Given the description of an element on the screen output the (x, y) to click on. 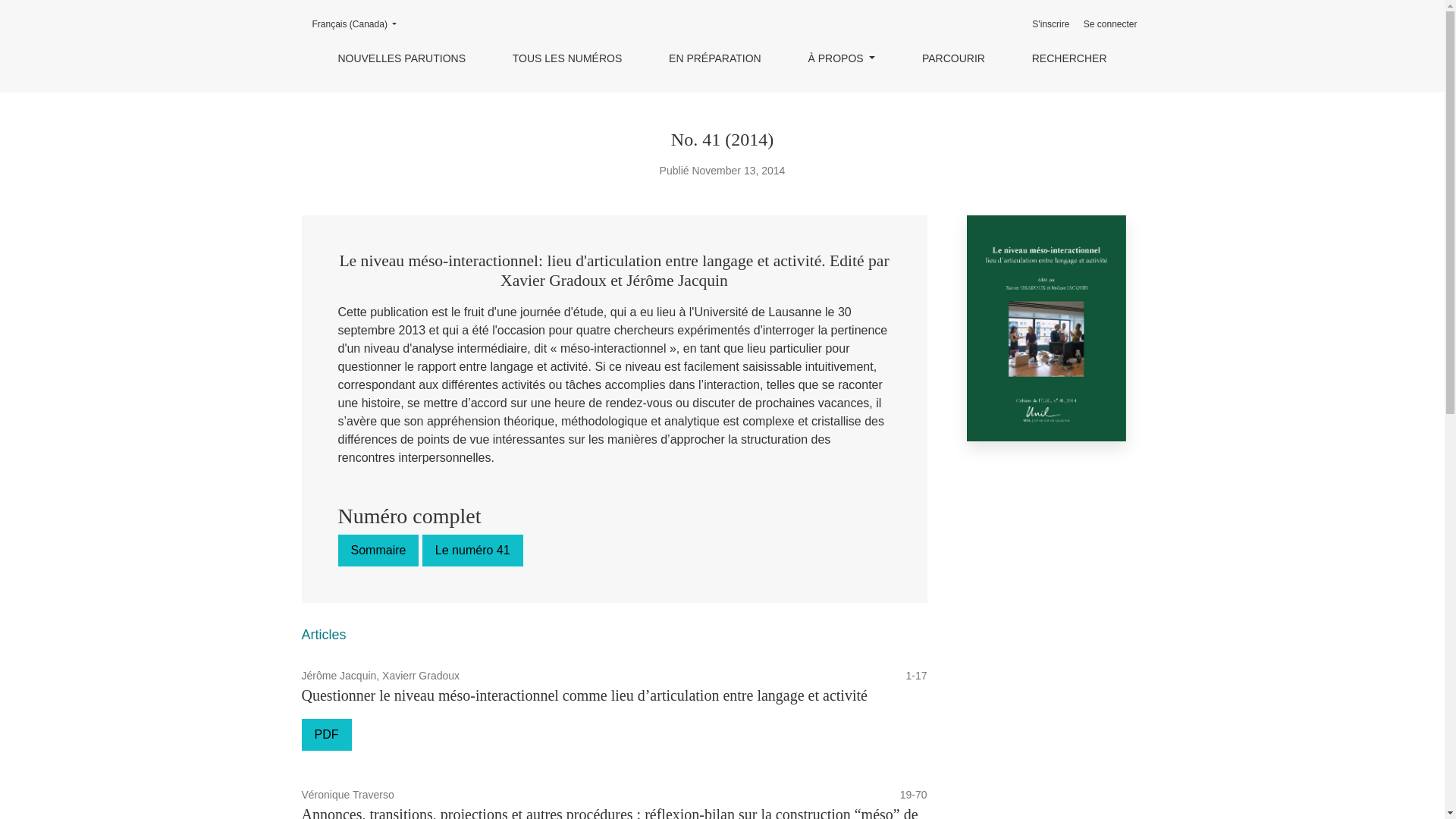
PARCOURIR Element type: text (953, 58)
Sommaire Element type: text (378, 550)
RECHERCHER Element type: text (1069, 58)
NOUVELLES PARUTIONS Element type: text (401, 58)
Se connecter Element type: text (1110, 24)
PDF Element type: text (326, 734)
S'inscrire Element type: text (1050, 24)
